Given the description of an element on the screen output the (x, y) to click on. 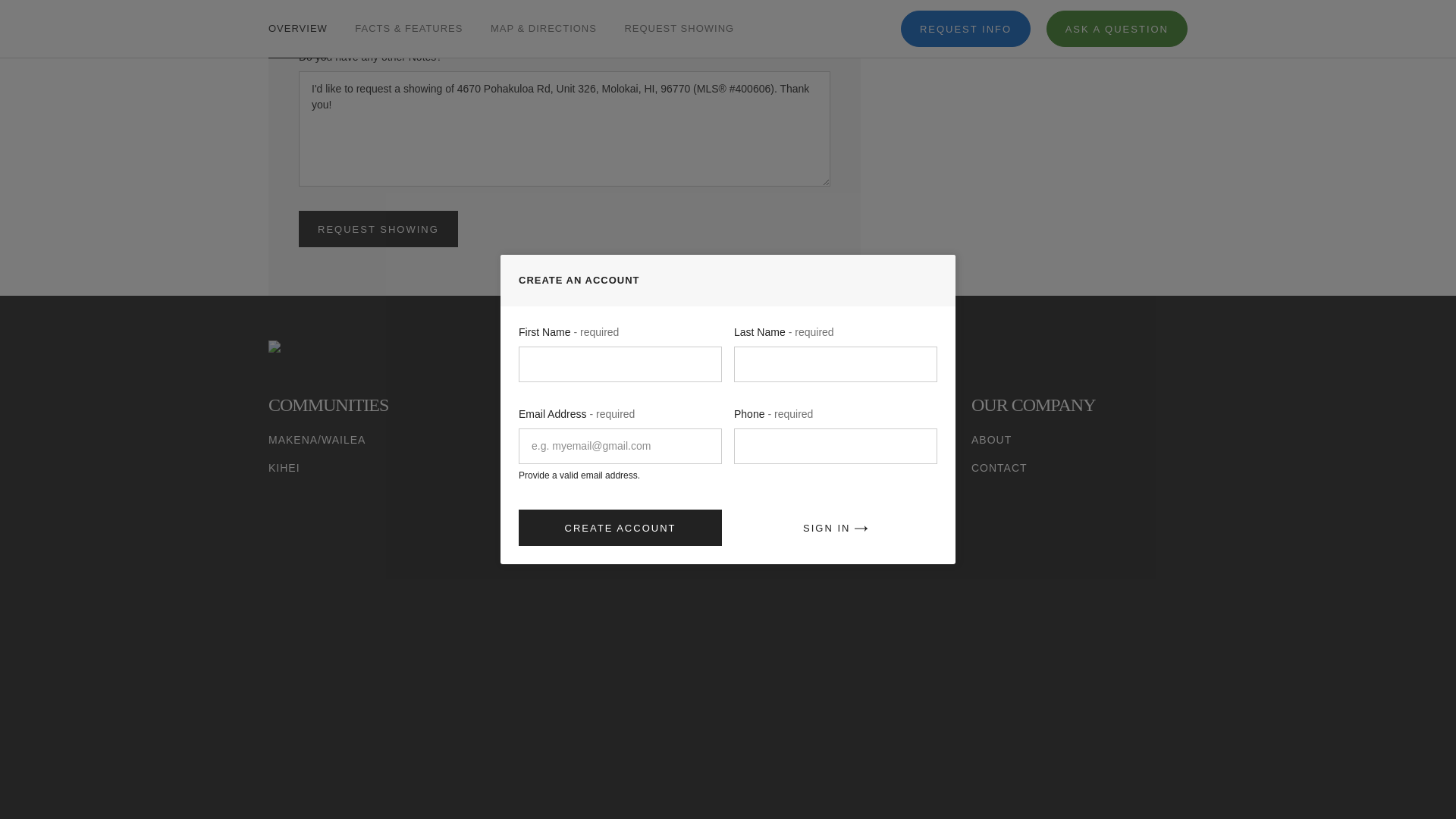
TWITTER (1017, 500)
FACEBOOK (1054, 500)
LINKEDIN (1091, 500)
YOUTUBE (979, 500)
